Given the description of an element on the screen output the (x, y) to click on. 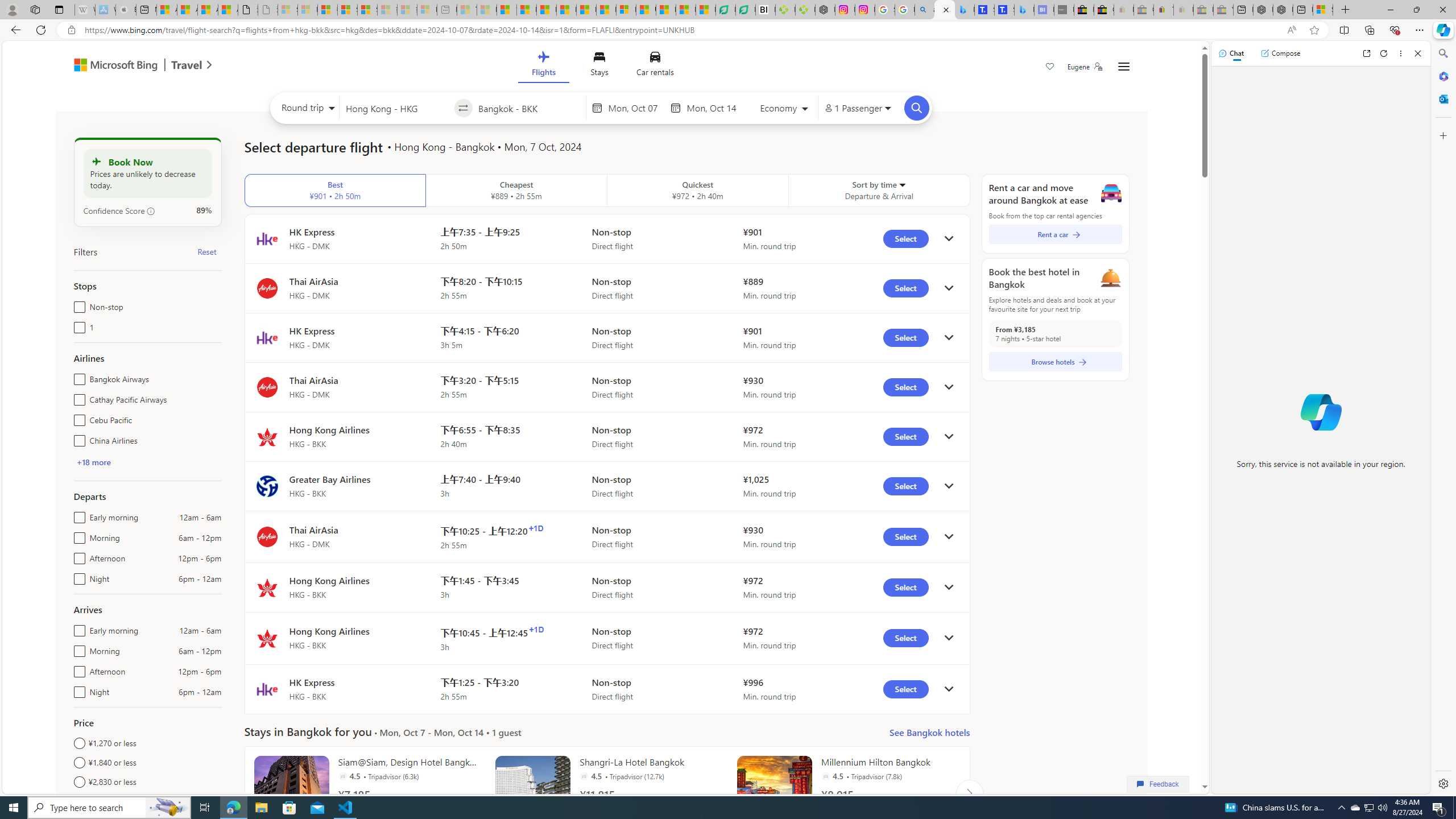
Any price (146, 801)
Open link in new tab (1366, 53)
Swap source and destination (463, 108)
Bangkok Airways (76, 376)
Travel (186, 65)
Save (1049, 67)
